Given the description of an element on the screen output the (x, y) to click on. 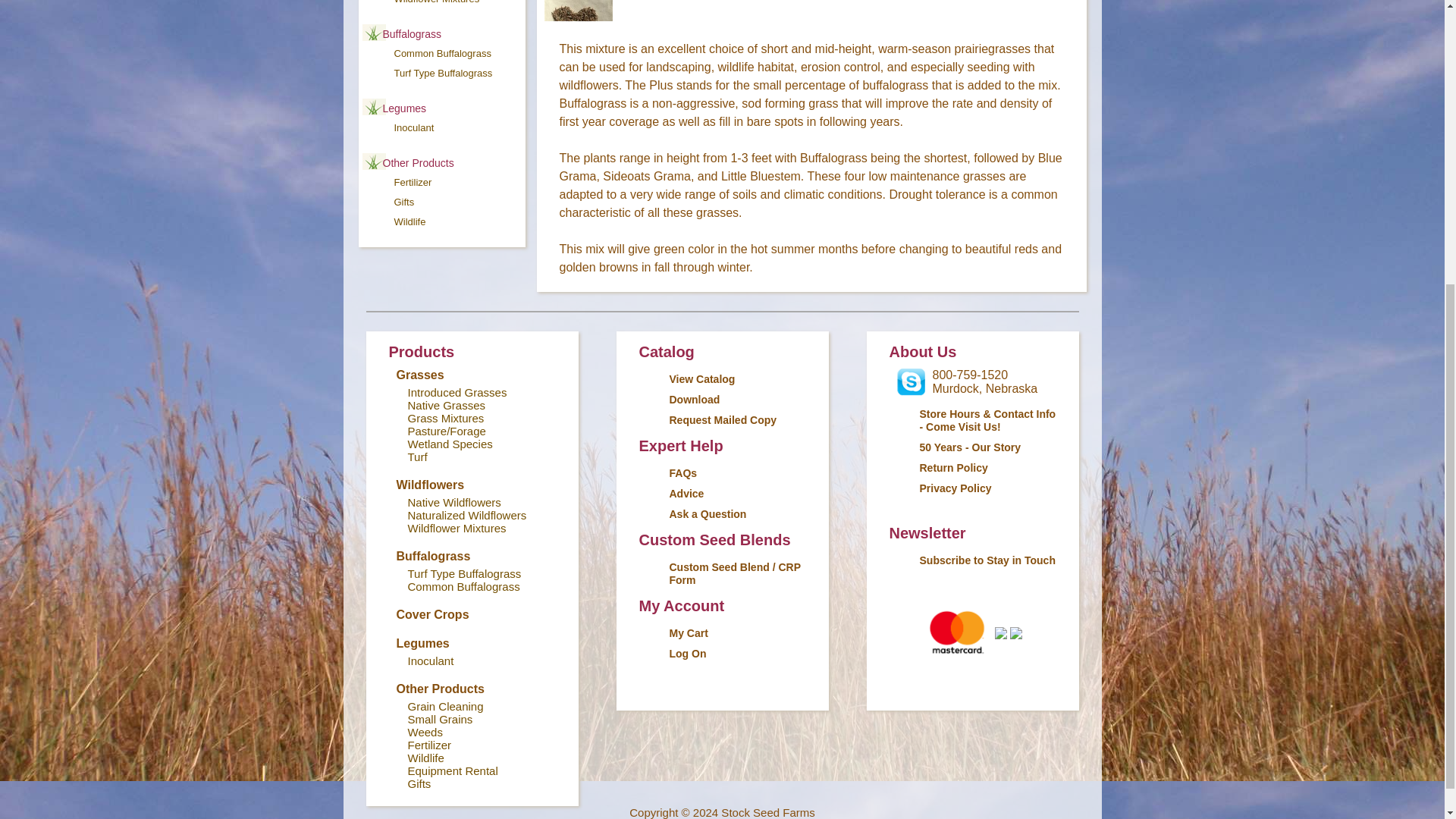
Wildlife (410, 221)
Wildflower Mixtures (437, 2)
Grasses (420, 374)
 - Prairie 3 Plus (578, 33)
Fertilizer (413, 182)
Common Buffalograss (443, 52)
Skype: 800-759-1520 (910, 381)
Turf Type Buffalograss (443, 72)
Gifts (404, 202)
Other Products (416, 162)
